Given the description of an element on the screen output the (x, y) to click on. 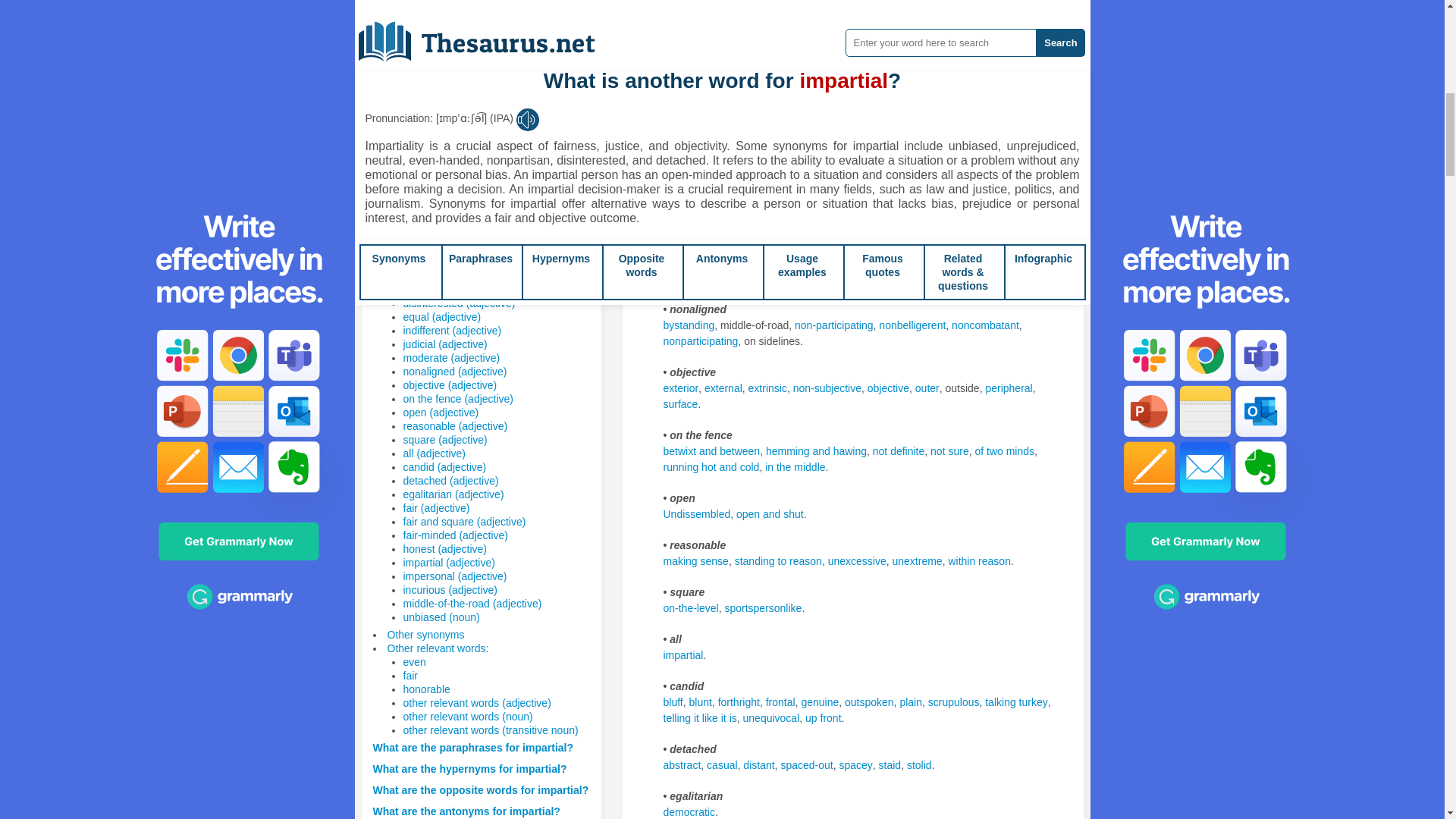
Synonyms for Impartial (802, 152)
Synonyms for Impartial (856, 152)
Synonyms for Impartial (771, 105)
Other synonyms (425, 634)
Synonyms for Impartial (975, 42)
Synonyms for Impartial (814, 58)
Synonyms for Impartial (908, 152)
Synonyms for Impartial (744, 42)
Synonyms for Impartial (963, 152)
Synonyms for Impartial (759, 58)
